Given the description of an element on the screen output the (x, y) to click on. 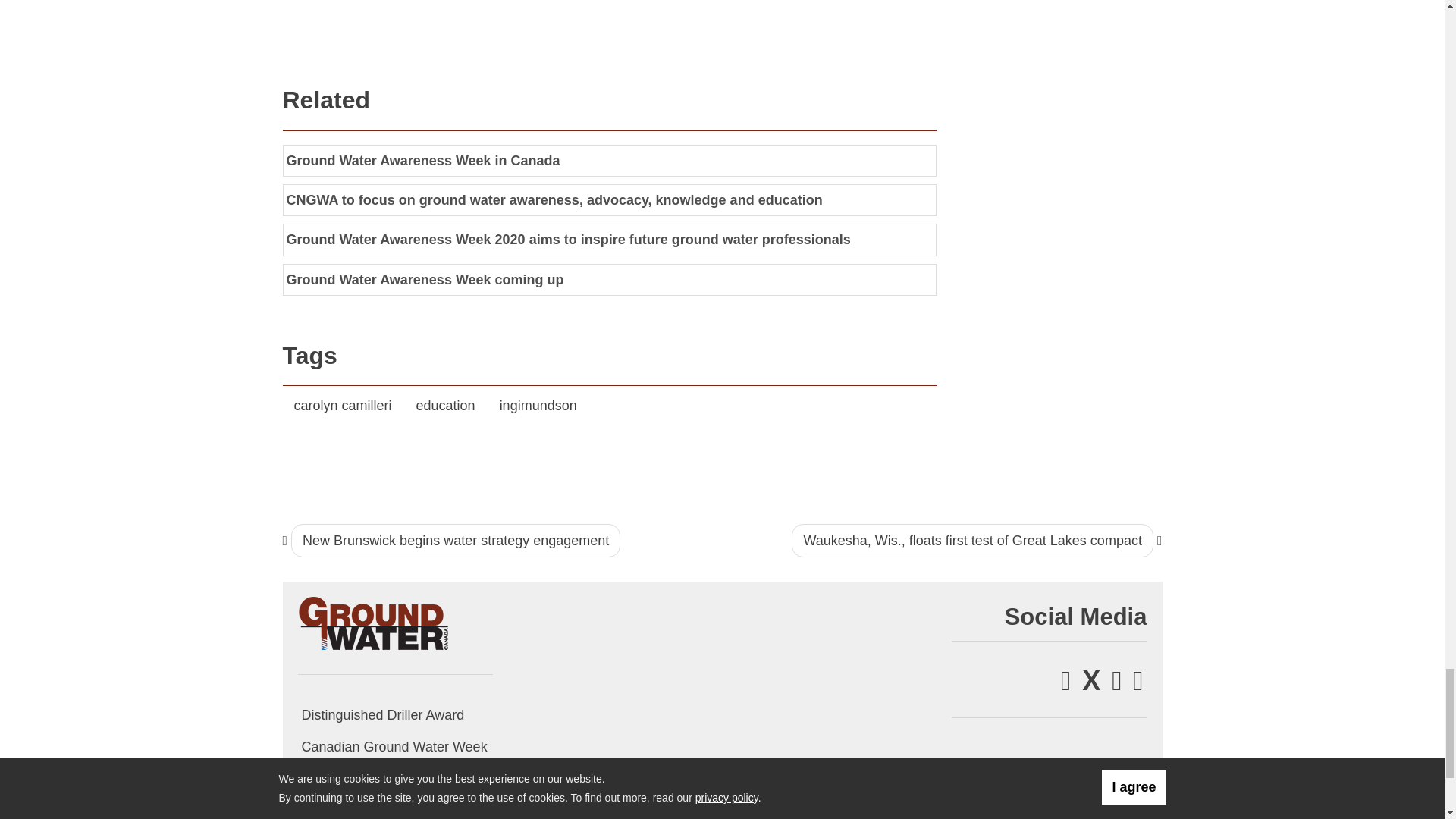
Ground Water Canada (373, 622)
